Given the description of an element on the screen output the (x, y) to click on. 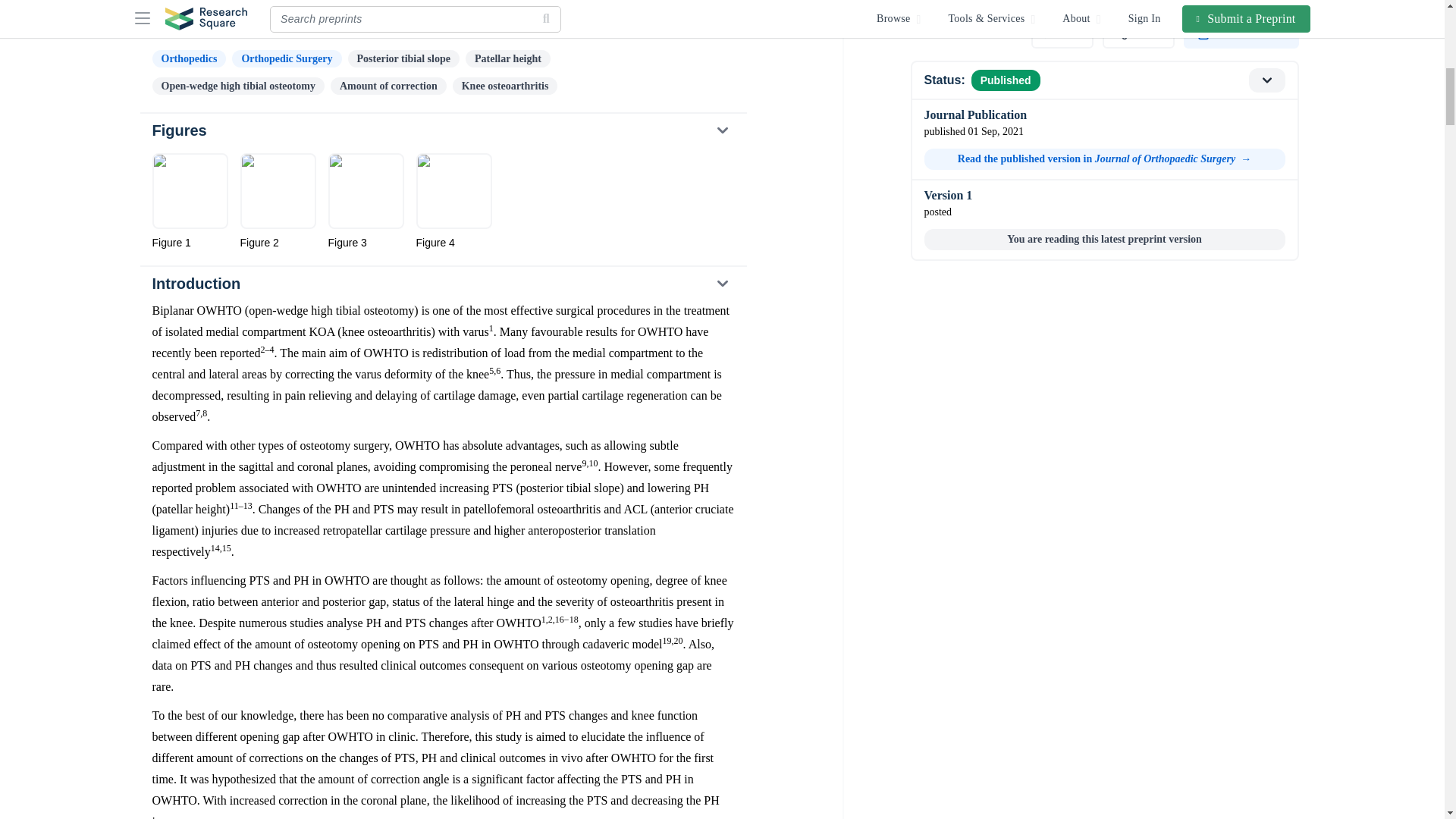
Orthopedic Surgery (285, 58)
Orthopedics (188, 58)
Figures (442, 130)
Introduction (442, 283)
